Given the description of an element on the screen output the (x, y) to click on. 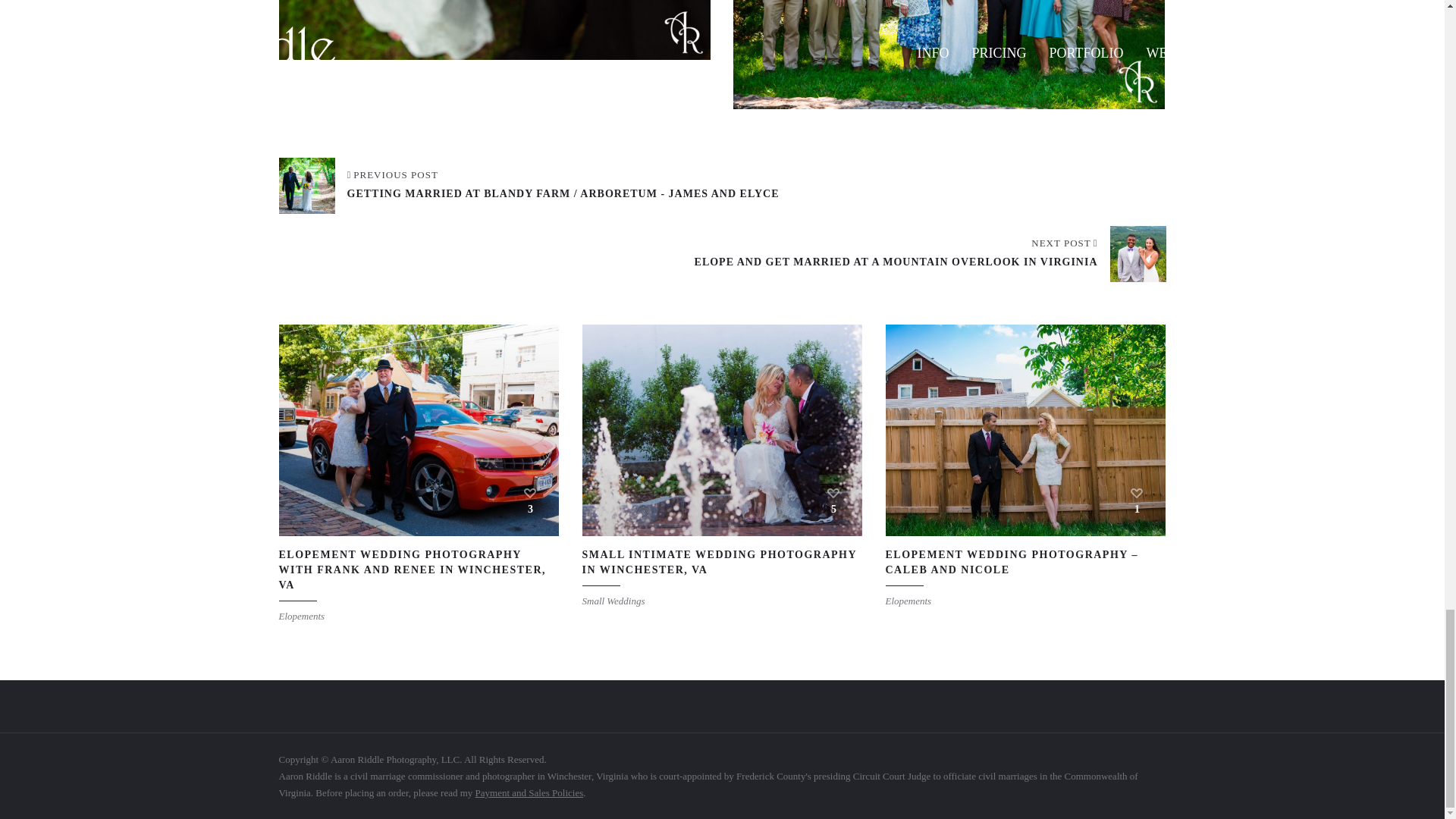
Elope and Get Married at a Mountain Overlook in Virginia (930, 252)
